Given the description of an element on the screen output the (x, y) to click on. 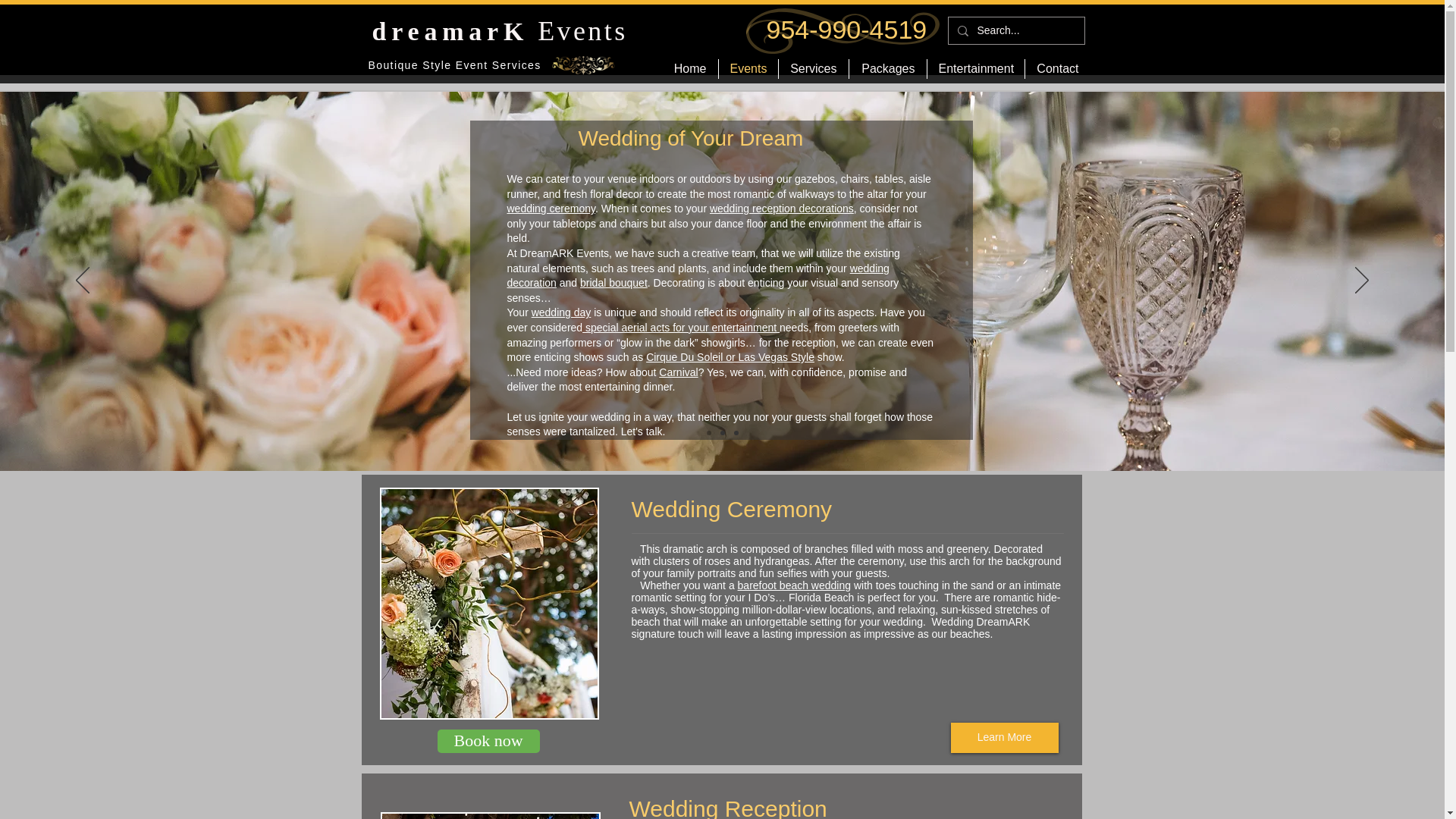
Wedding ceremony floral arch (488, 603)
Packages (887, 68)
Contact (1057, 68)
Home (689, 68)
Services (812, 68)
Entertainment (974, 68)
Outdoor wedding reception decoration with flowers and lights (489, 815)
Events (748, 68)
